Given the description of an element on the screen output the (x, y) to click on. 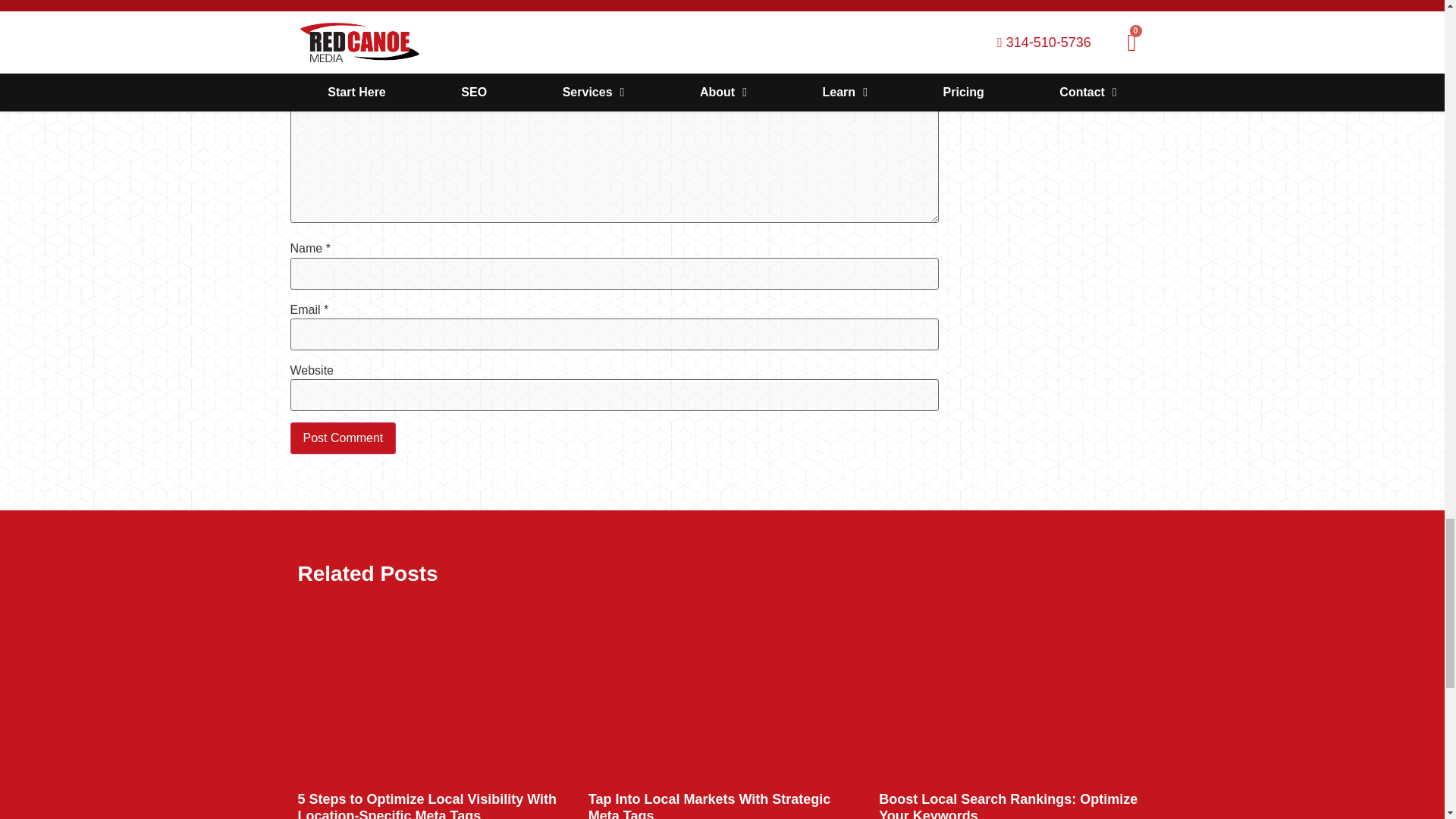
Post Comment (342, 438)
